Given the description of an element on the screen output the (x, y) to click on. 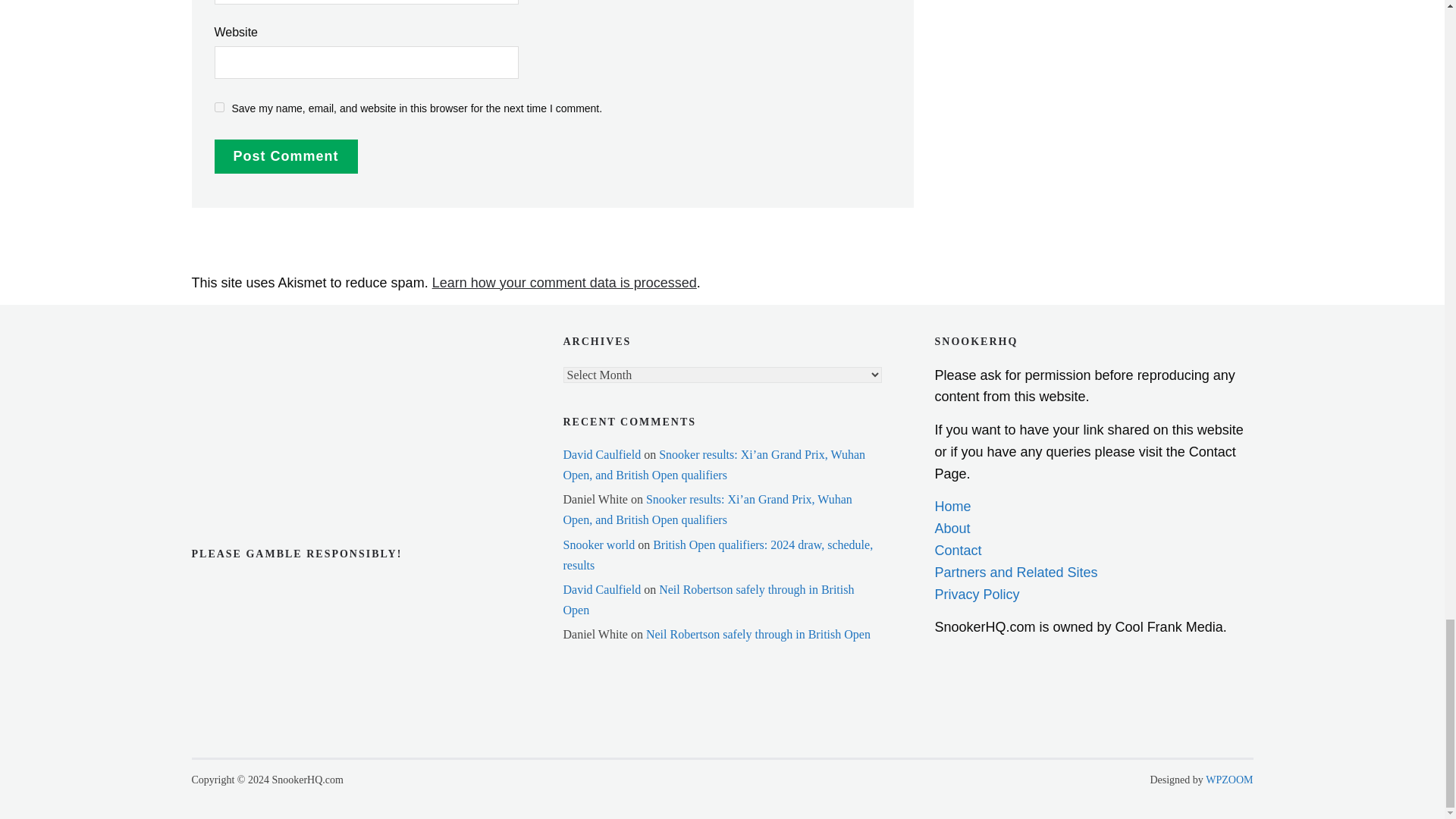
yes (219, 107)
nongamstopbets-sports-betting (266, 390)
Post Comment (285, 156)
ngc-uk-betting-sites-not-on-gamstop (266, 345)
non-gamstop-betting-sites (266, 436)
